Given the description of an element on the screen output the (x, y) to click on. 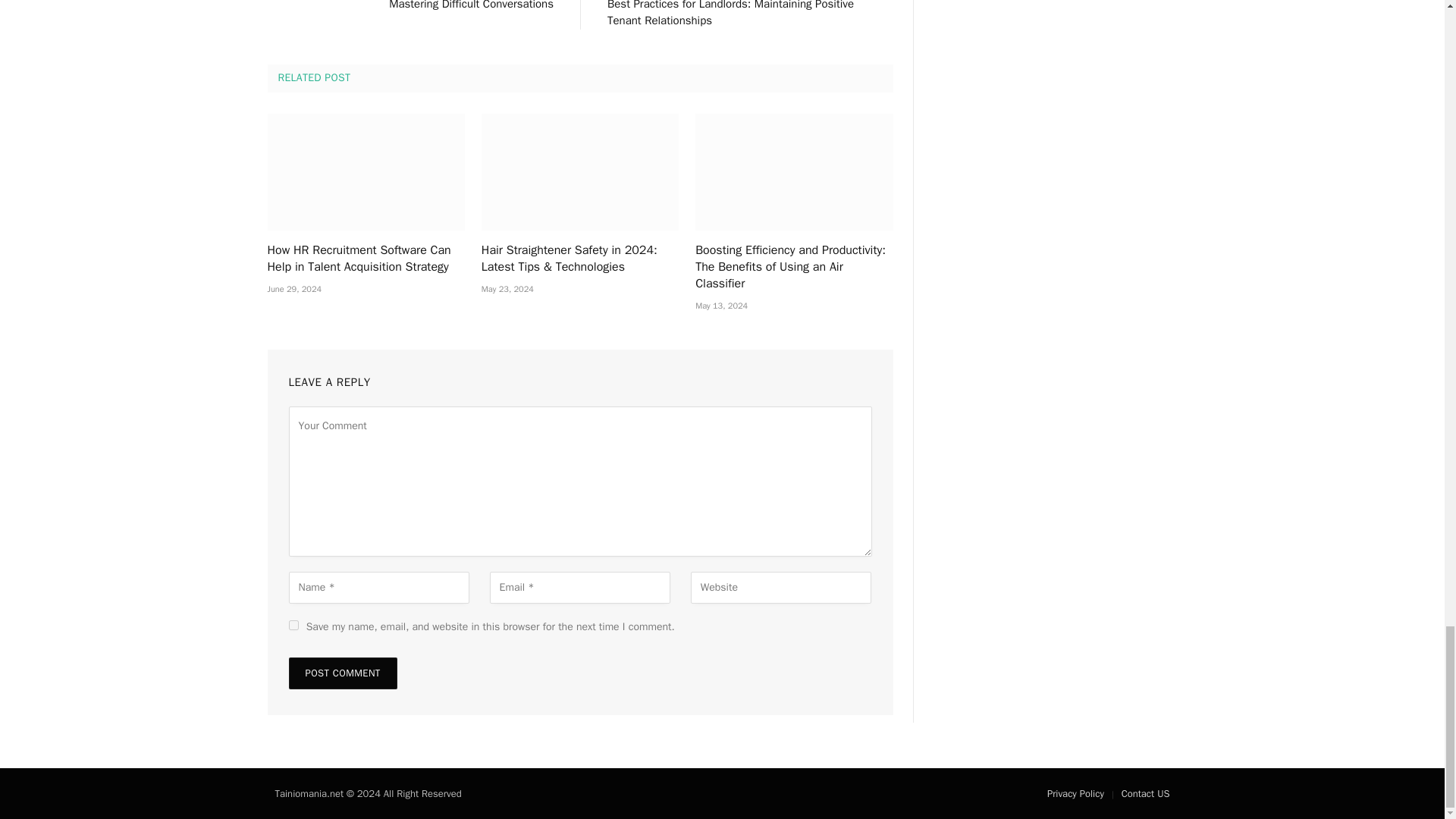
yes (293, 624)
Post Comment (342, 673)
